Given the description of an element on the screen output the (x, y) to click on. 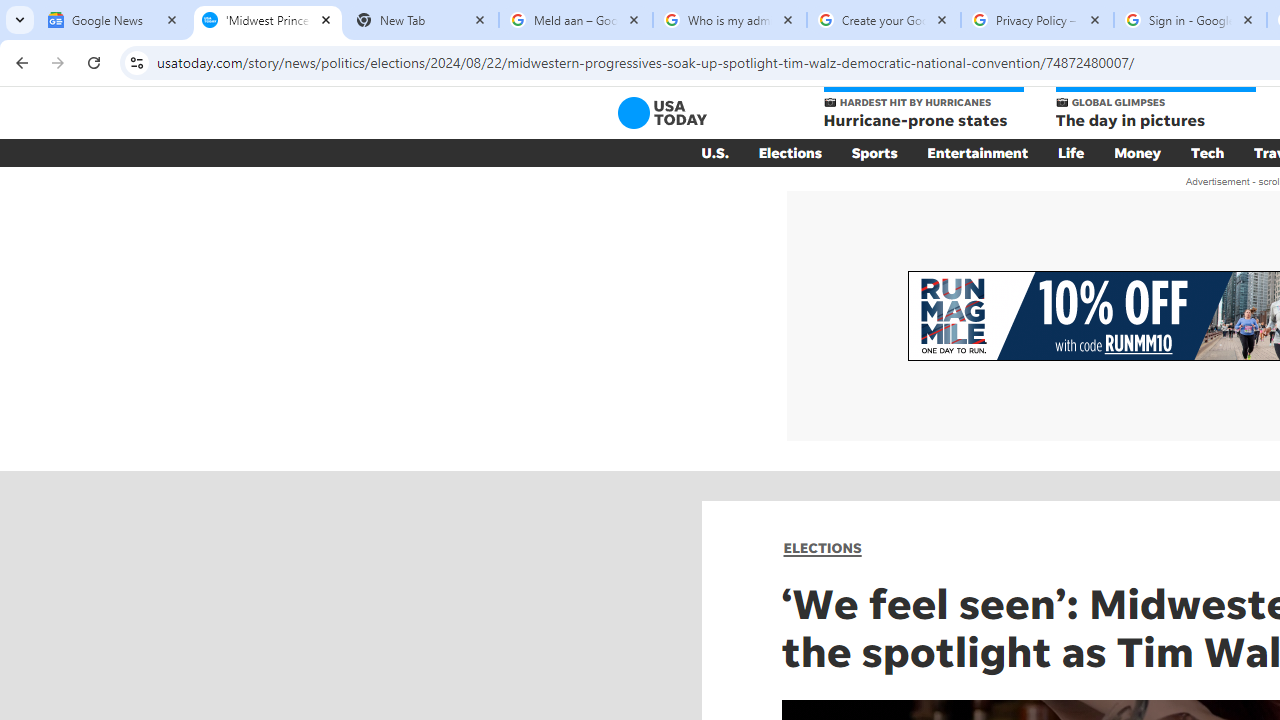
U.S. (714, 152)
Create your Google Account (883, 20)
Elections (789, 152)
Entertainment (977, 152)
Google News (113, 20)
Sign in - Google Accounts (1190, 20)
ELECTIONS (822, 548)
